Given the description of an element on the screen output the (x, y) to click on. 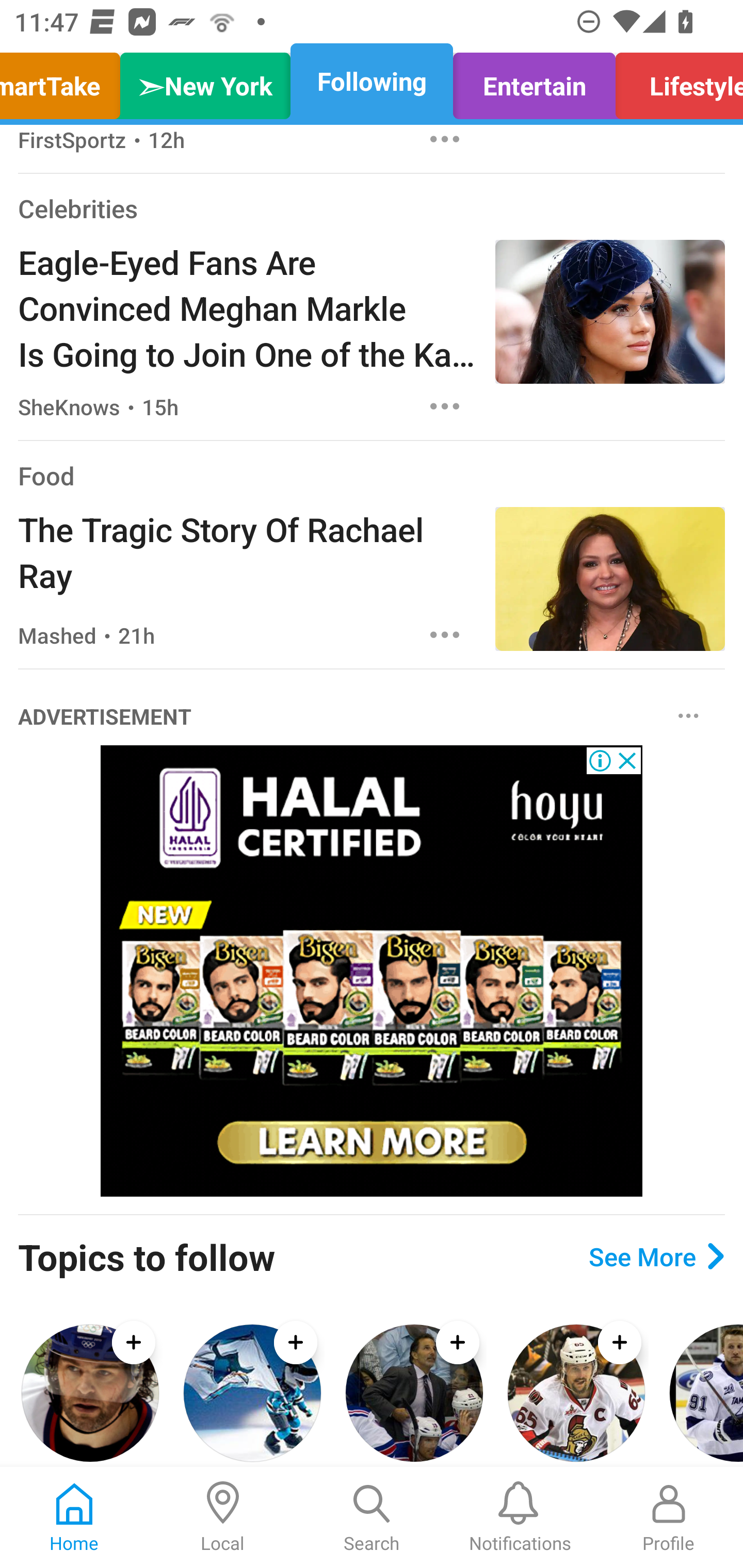
➣New York (205, 81)
Following (371, 81)
Entertain (534, 81)
Options (444, 143)
Celebrities (77, 208)
Options (444, 406)
Food (46, 474)
Options (444, 634)
Options (688, 715)
28 (371, 970)
See More (656, 1255)
Local (222, 1517)
Search (371, 1517)
Notifications (519, 1517)
Profile (668, 1517)
